Given the description of an element on the screen output the (x, y) to click on. 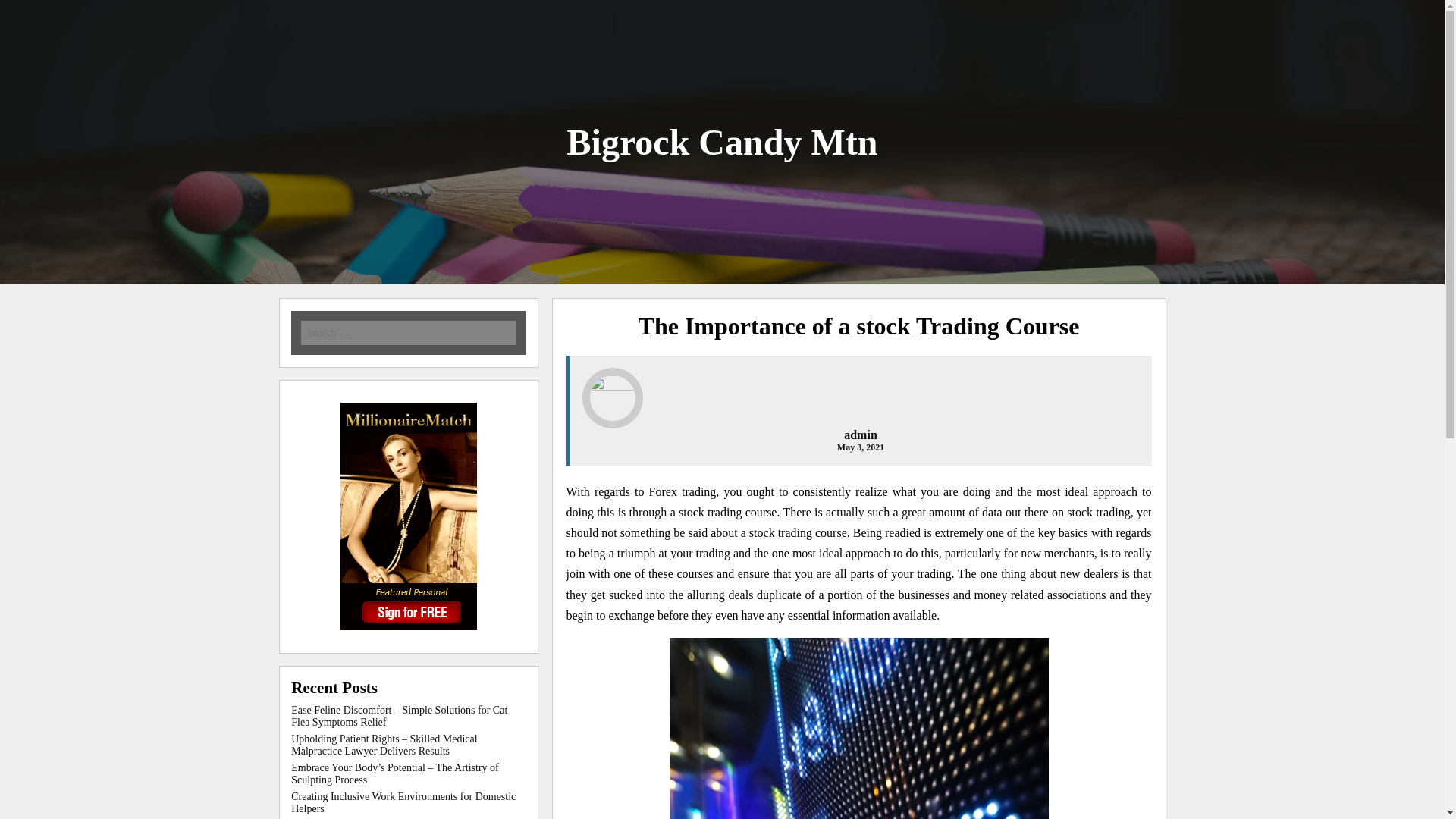
Bigrock Candy Mtn (722, 142)
May 3, 2021 (860, 447)
admin (860, 434)
Creating Inclusive Work Environments for Domestic Helpers (403, 802)
View all posts by admin (860, 434)
11:36 am (860, 447)
Search (216, 11)
